Given the description of an element on the screen output the (x, y) to click on. 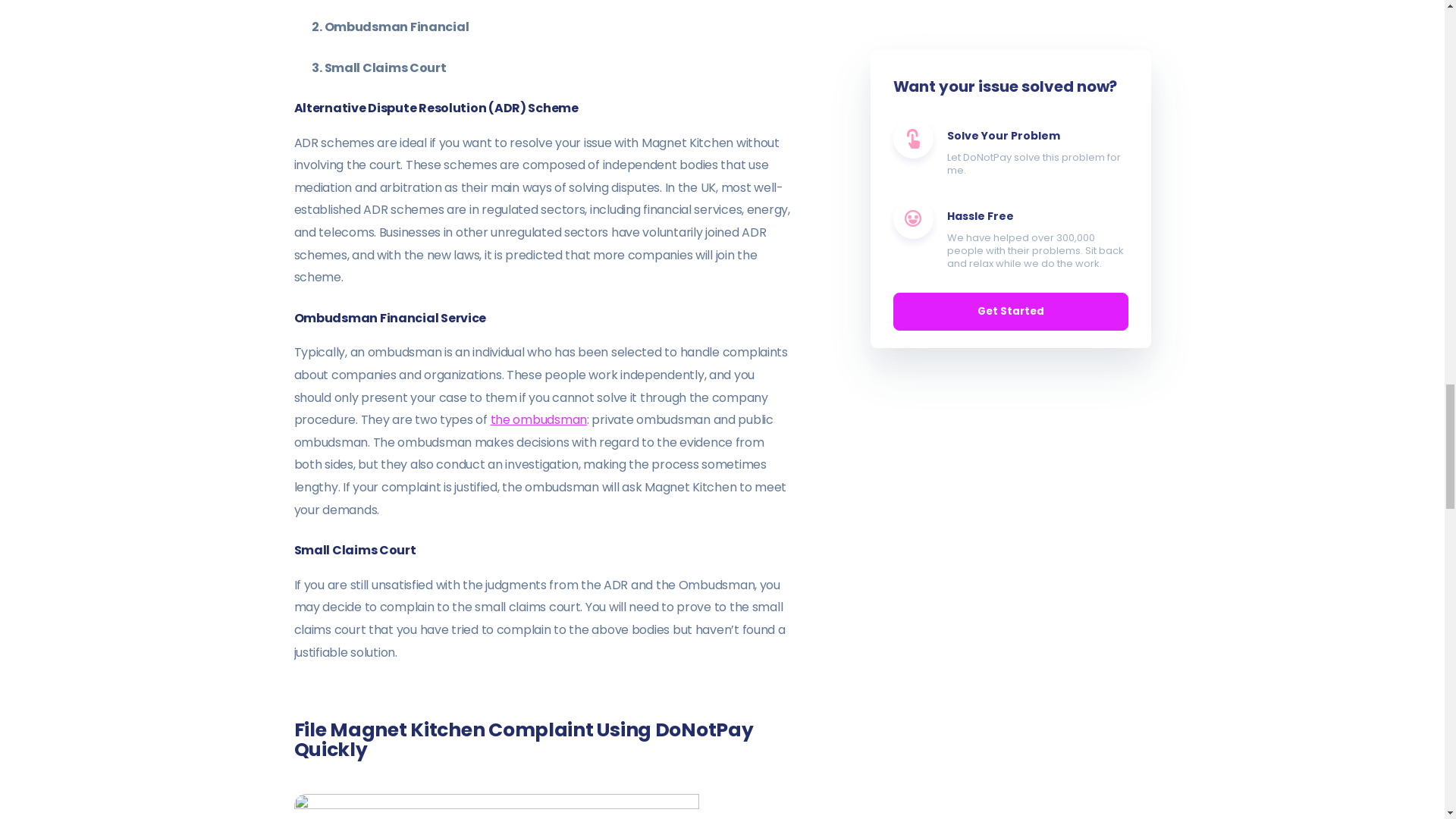
the ombudsman (538, 419)
